Given the description of an element on the screen output the (x, y) to click on. 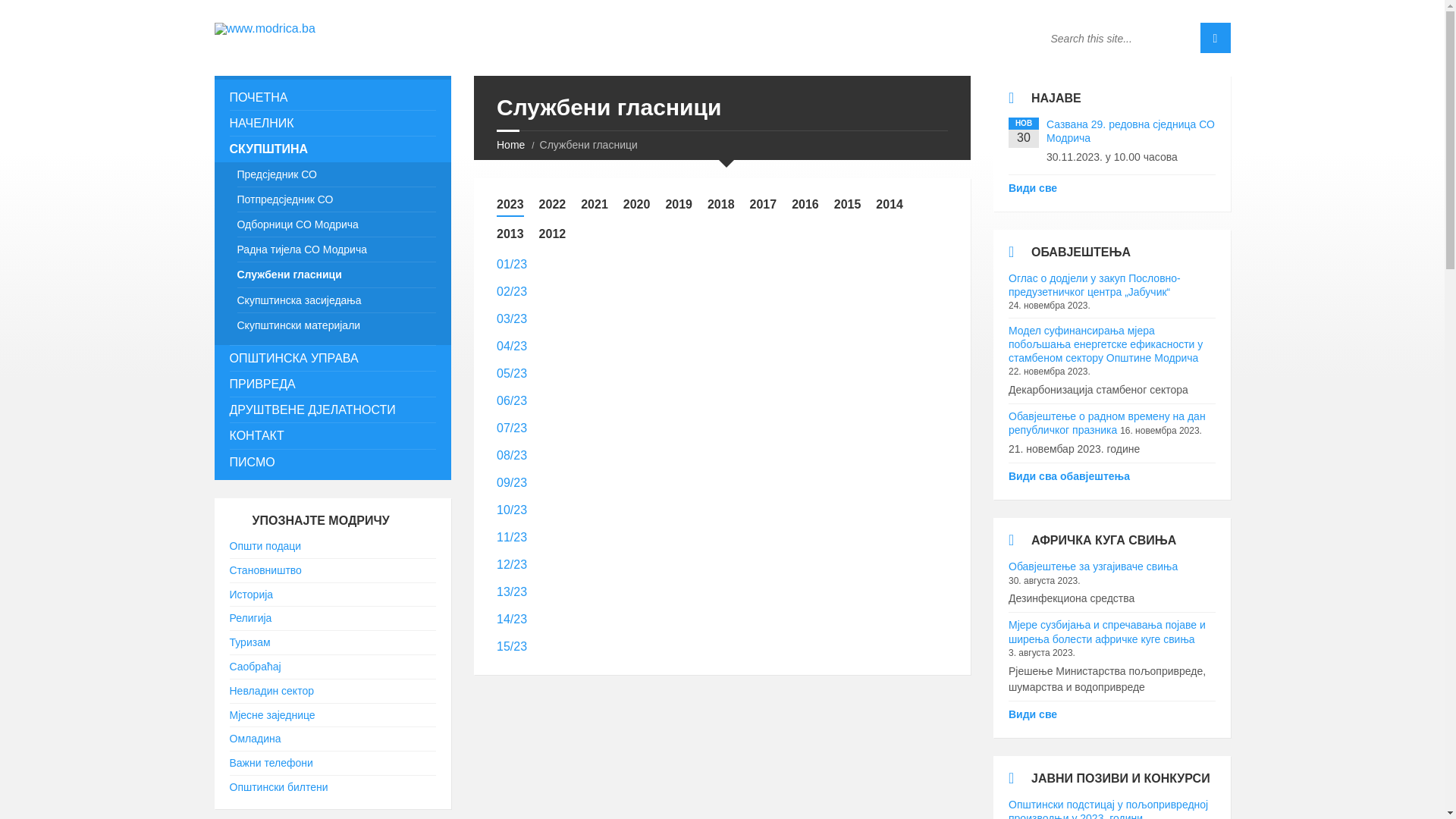
07/23 Element type: text (511, 427)
15/23 Element type: text (511, 646)
09/23 Element type: text (511, 482)
01/23 Element type: text (511, 263)
13/23 Element type: text (511, 591)
04/23 Element type: text (511, 345)
05/23 Element type: text (511, 373)
Home Element type: text (510, 144)
12/23 Element type: text (511, 564)
11/23 Element type: text (511, 536)
08/23 Element type: text (511, 454)
14/23 Element type: text (511, 618)
03/23 Element type: text (511, 318)
02/23 Element type: text (511, 291)
10/23 Element type: text (511, 509)
06/23 Element type: text (511, 400)
